Given the description of an element on the screen output the (x, y) to click on. 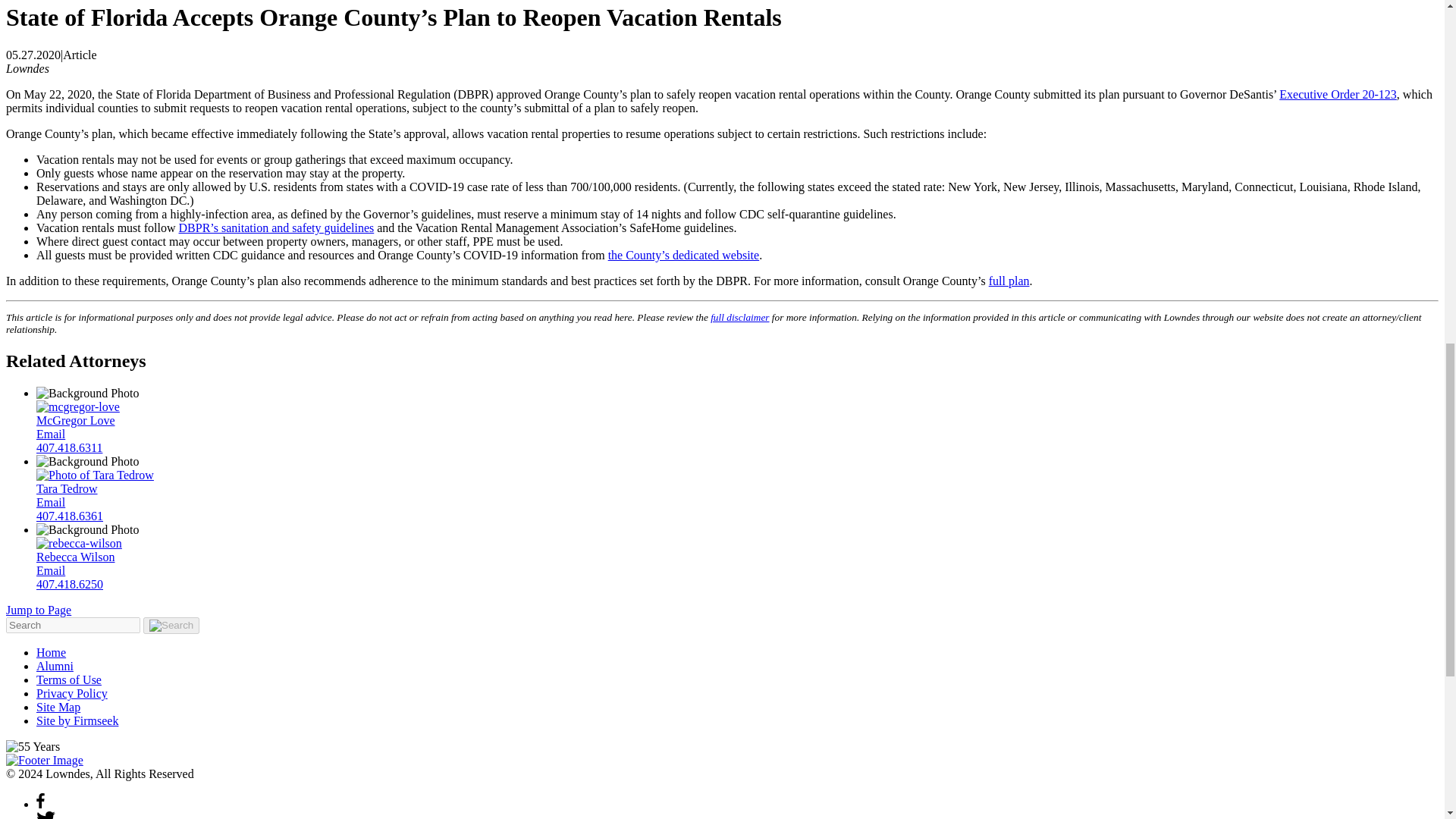
Twitter (45, 817)
Twitter (45, 815)
